Given the description of an element on the screen output the (x, y) to click on. 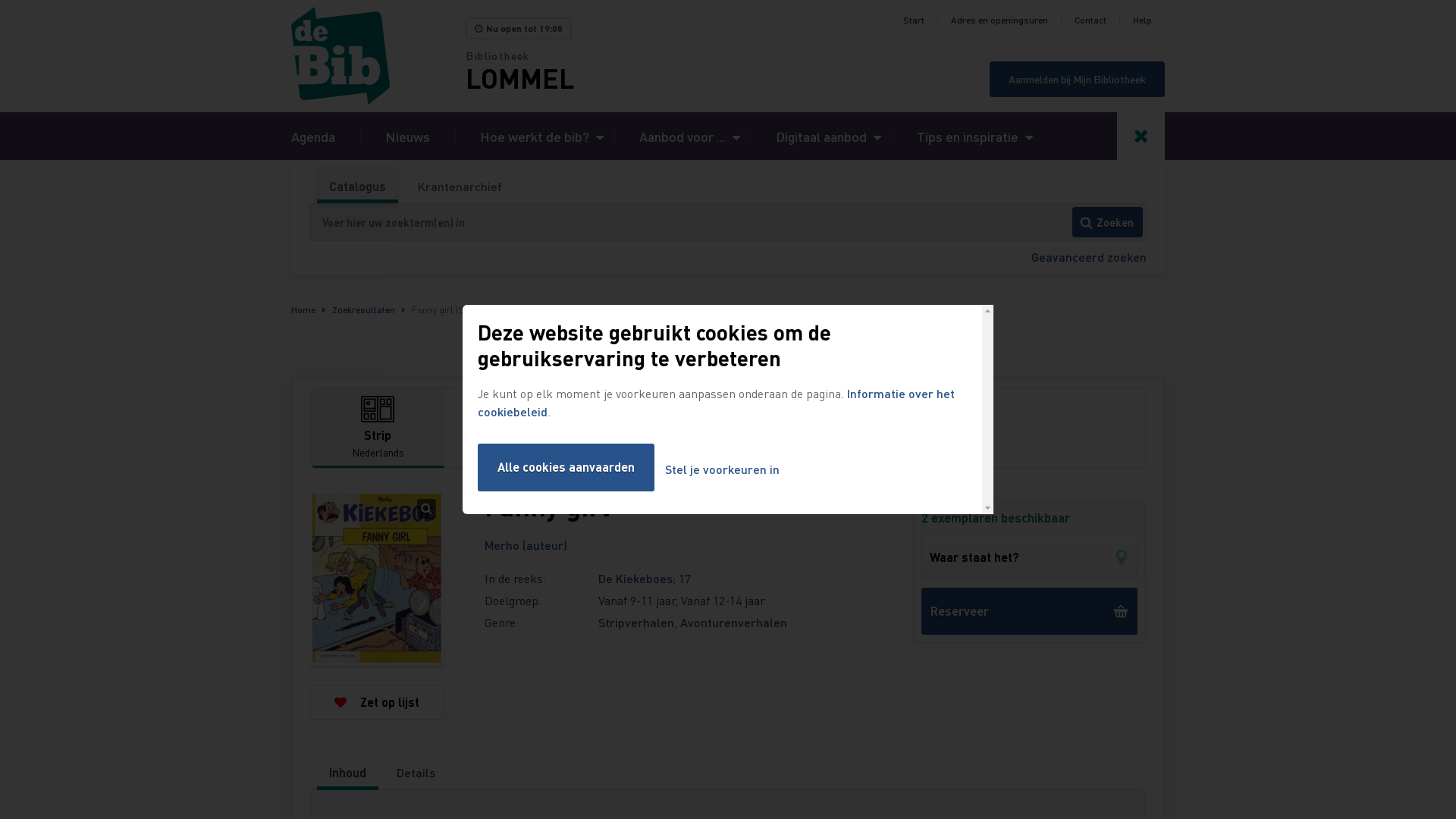
Nieuws Element type: text (407, 136)
Waar staat het? Element type: text (1029, 557)
Merho (auteur) Element type: text (525, 544)
De Kiekeboes Element type: text (635, 578)
Stripverhalen Element type: text (636, 622)
Contact Element type: text (1090, 20)
Informatie over het cookiebeleid Element type: text (715, 402)
Avonturenverhalen Element type: text (733, 622)
Stel je voorkeuren in Element type: text (722, 469)
Geavanceerd zoeken Element type: text (1088, 256)
Toggle search Element type: hover (1140, 136)
Alle cookies aanvaarden Element type: text (565, 466)
Aanmelden bij Mijn Bibliotheek Element type: text (1076, 79)
Adres en openingsuren Element type: text (999, 20)
Home Element type: text (303, 309)
Overslaan en naar zoeken gaan Element type: text (0, 0)
Details Element type: text (415, 772)
Zoeken Element type: text (1107, 222)
Agenda Element type: text (313, 136)
Home Element type: hover (378, 55)
Start Element type: text (913, 20)
Zet op lijst Element type: text (376, 701)
Zoekresultaten Element type: text (363, 309)
Inhoud Element type: text (347, 772)
Nu open tot 19:00 Element type: text (518, 28)
Catalogus Element type: text (357, 186)
Help Element type: text (1141, 20)
Krantenarchief Element type: text (459, 186)
Reserveer Element type: text (1029, 610)
